Given the description of an element on the screen output the (x, y) to click on. 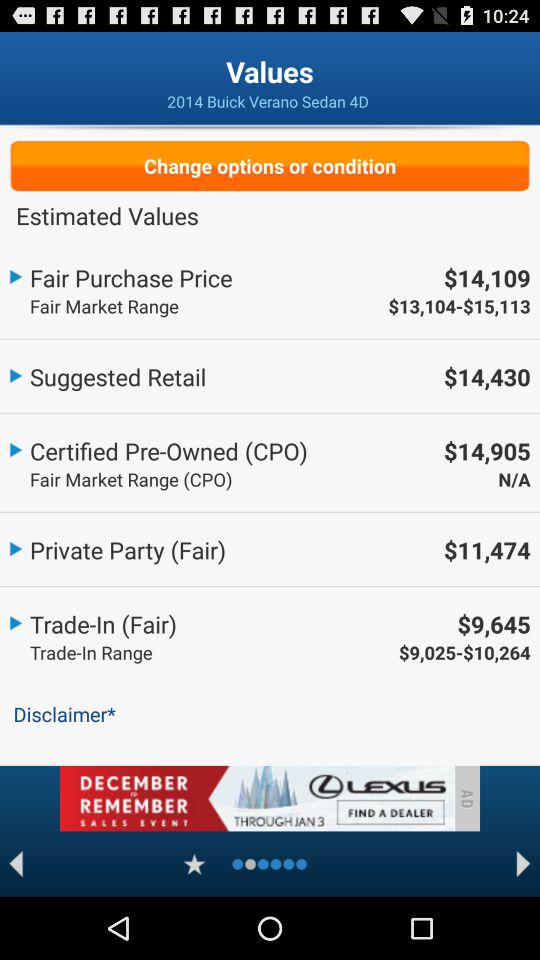
next page (523, 864)
